Given the description of an element on the screen output the (x, y) to click on. 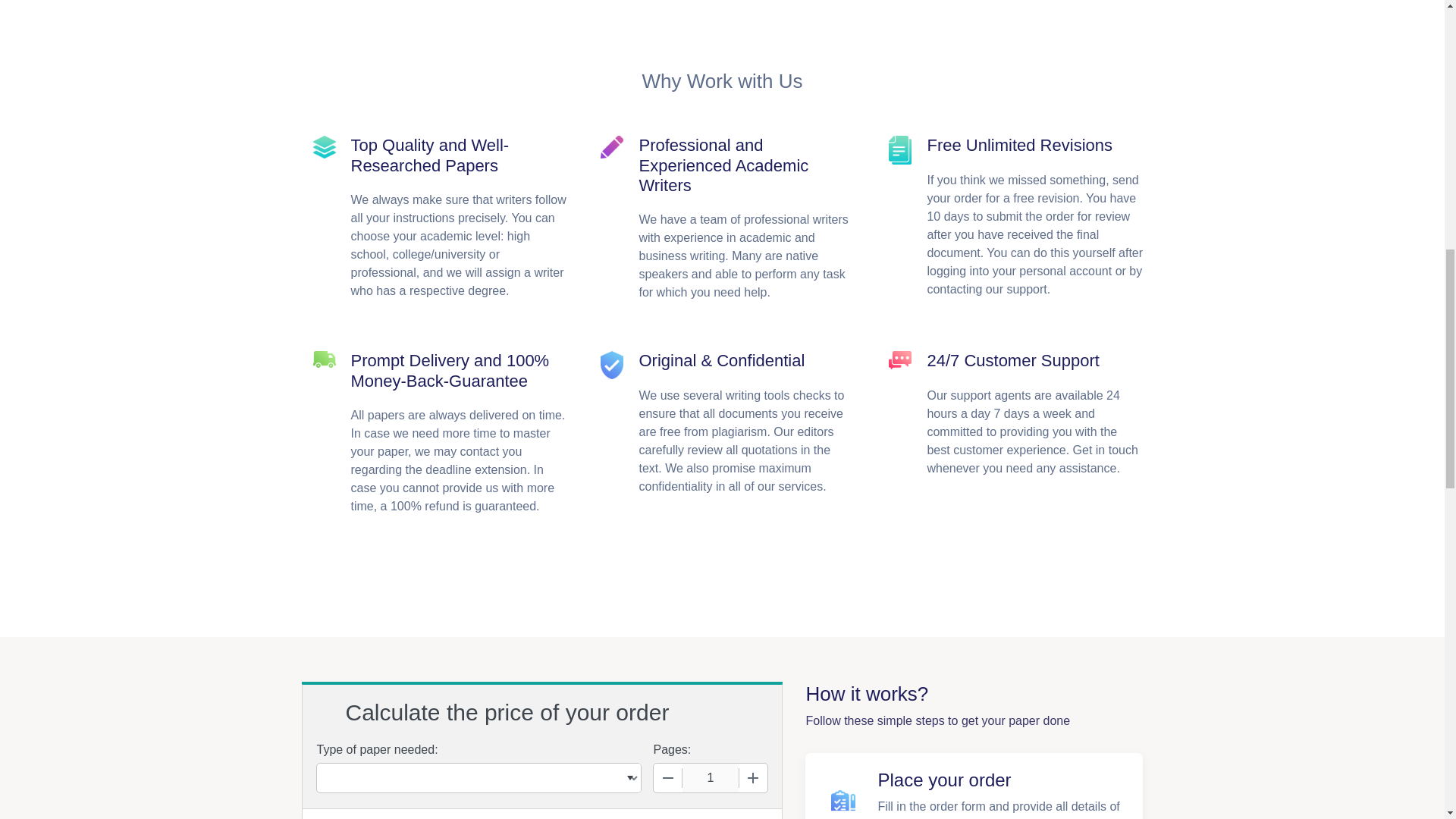
1 (710, 777)
Decrease (667, 777)
Increase (752, 777)
